Given the description of an element on the screen output the (x, y) to click on. 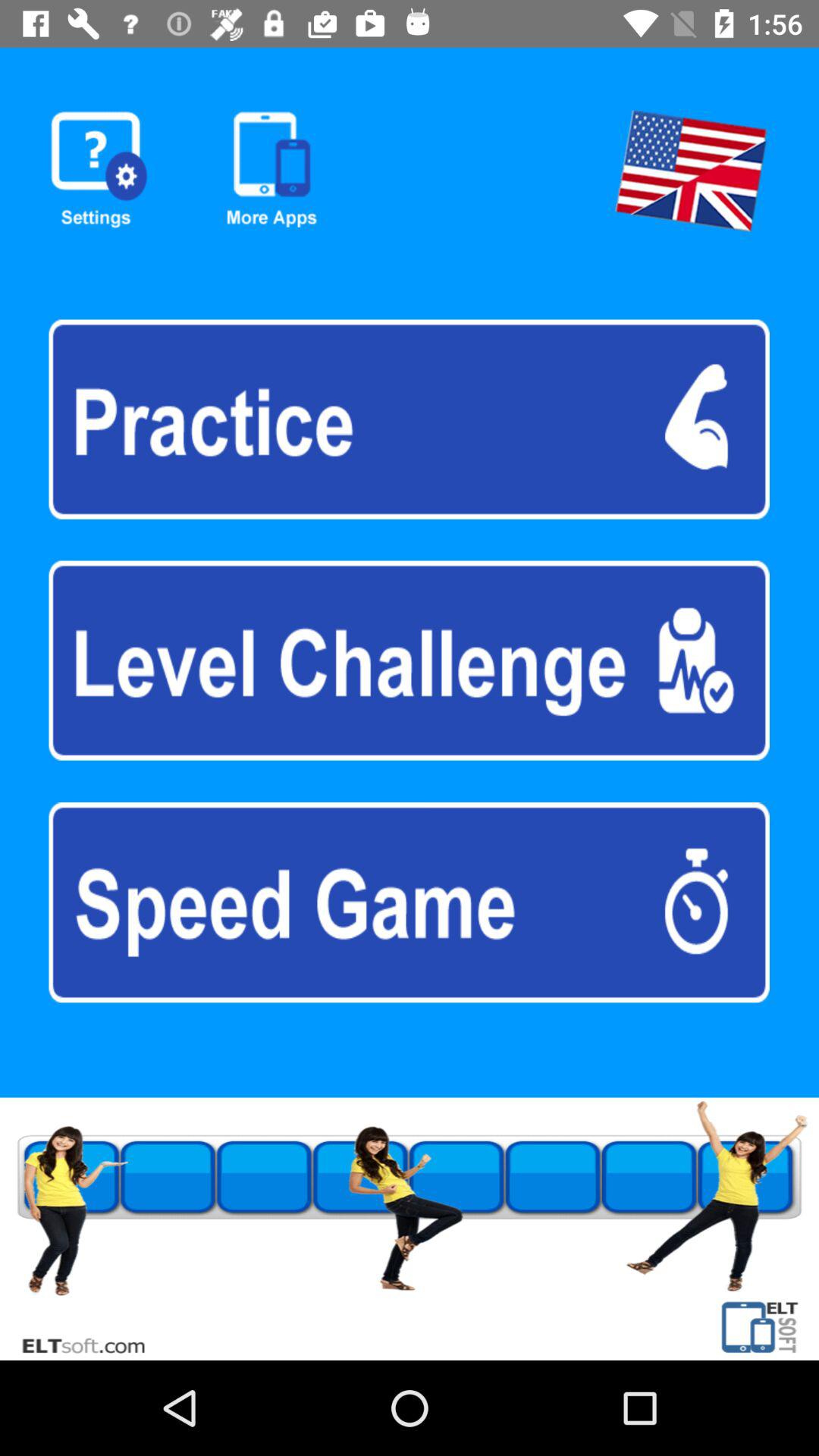
level challenge button on an app (408, 660)
